Given the description of an element on the screen output the (x, y) to click on. 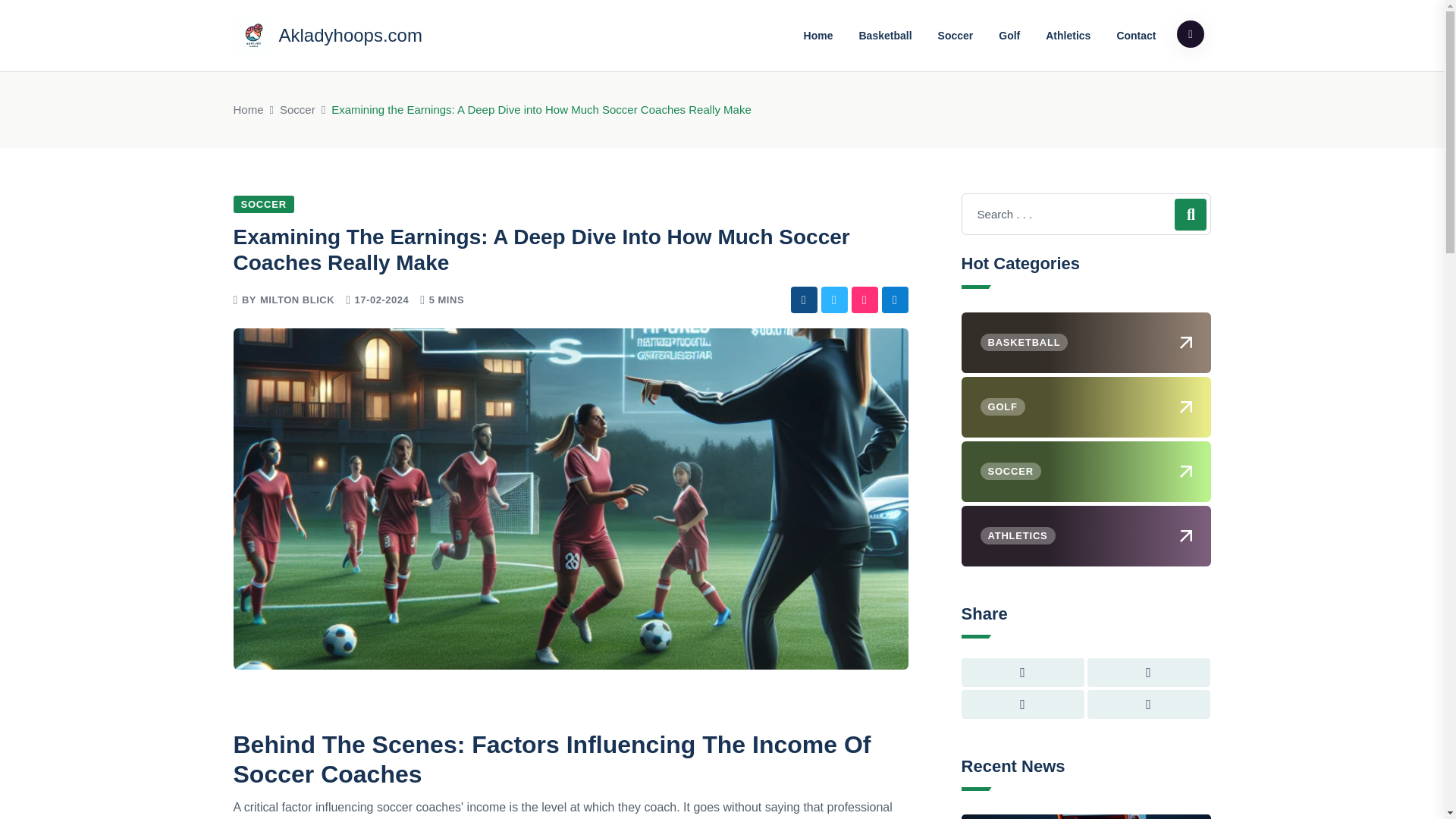
Athletics (1067, 35)
SOCCER (263, 203)
MILTON BLICK (297, 299)
Akladyhoops.com (327, 35)
Basketball (884, 35)
Contact (1136, 35)
Soccer (297, 109)
GOLF (1085, 406)
ATHLETICS (1085, 536)
Home (247, 109)
